Given the description of an element on the screen output the (x, y) to click on. 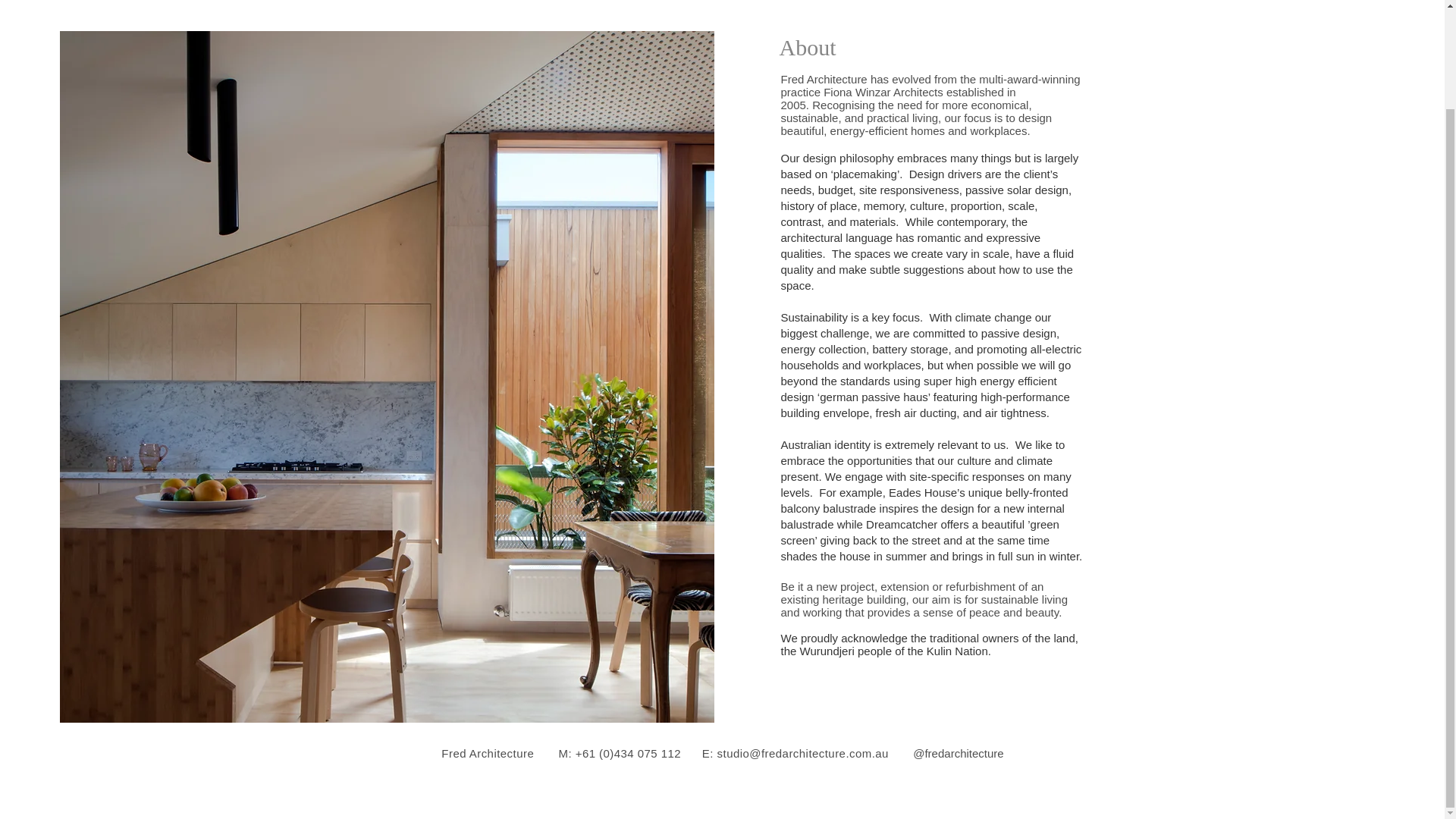
About (806, 47)
